Given the description of an element on the screen output the (x, y) to click on. 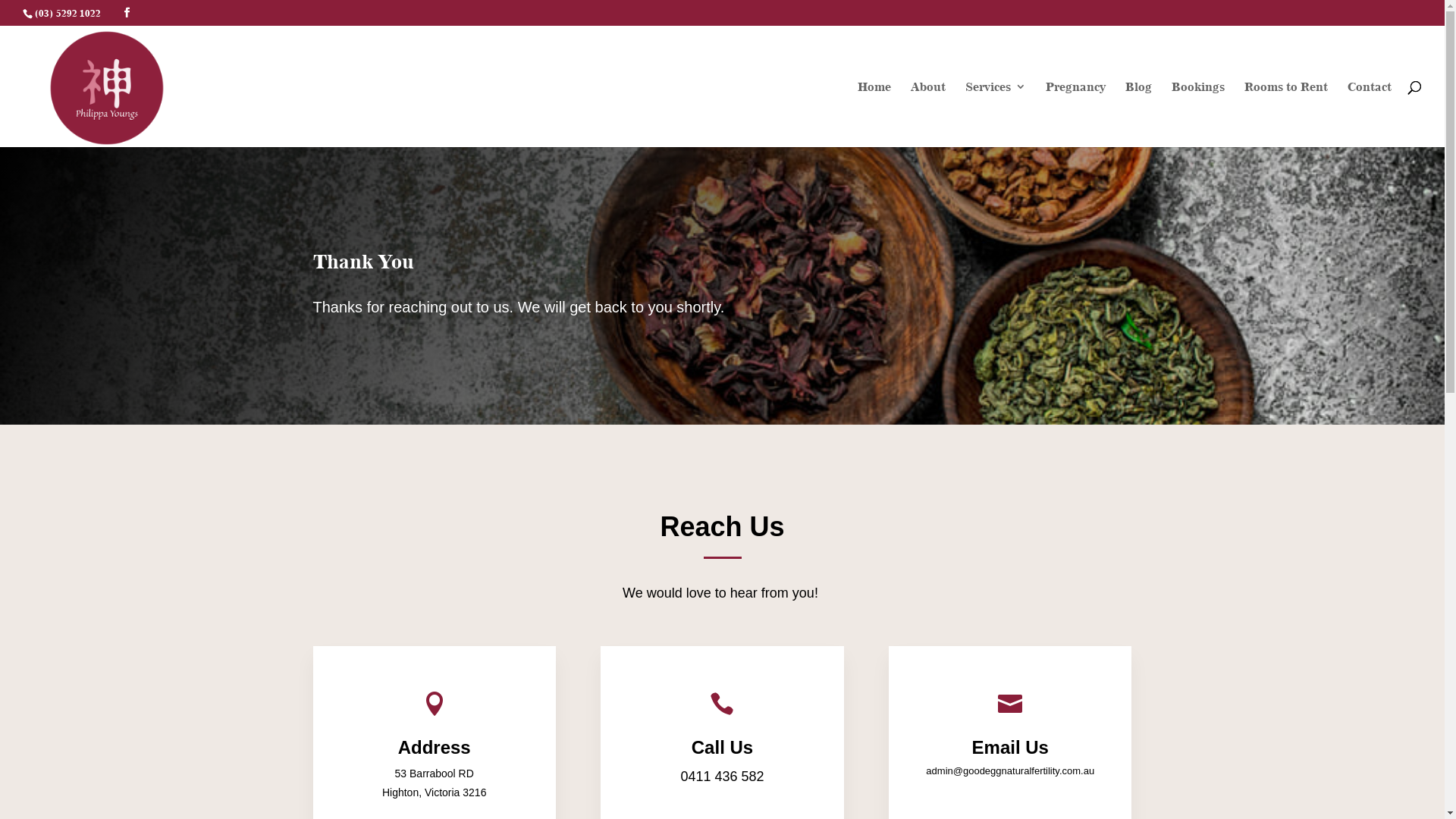
Rooms to Rent Element type: text (1285, 113)
Blog Element type: text (1138, 113)
Bookings Element type: text (1197, 113)
Home Element type: text (874, 113)
(03) 5292 1022 Element type: text (67, 12)
Contact Element type: text (1369, 113)
Pregnancy Element type: text (1075, 113)
admin@goodeggnaturalfertility.com.au Element type: text (1009, 769)
Services Element type: text (995, 113)
About Element type: text (927, 113)
